Given the description of an element on the screen output the (x, y) to click on. 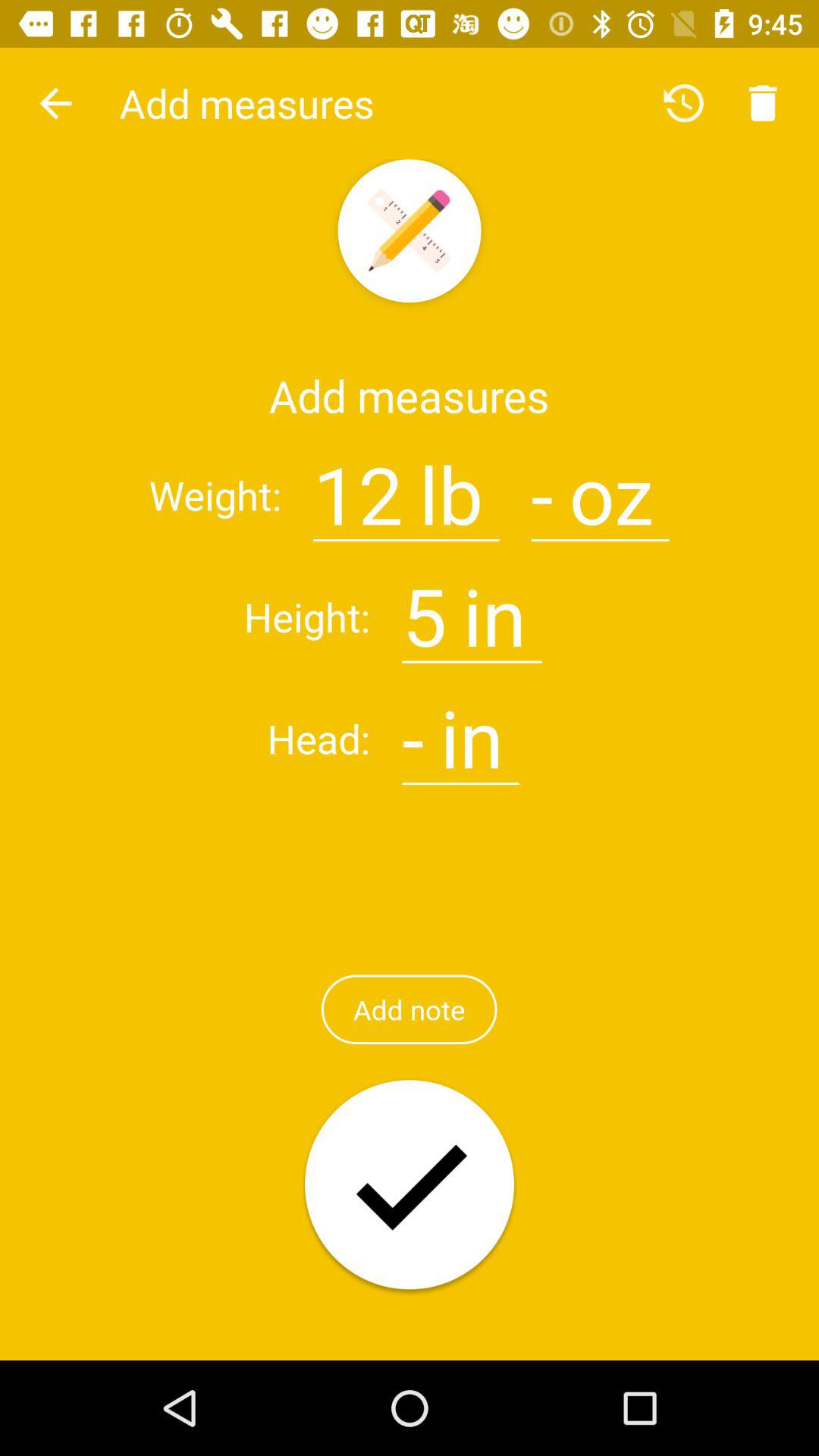
open add note (409, 1009)
